Given the description of an element on the screen output the (x, y) to click on. 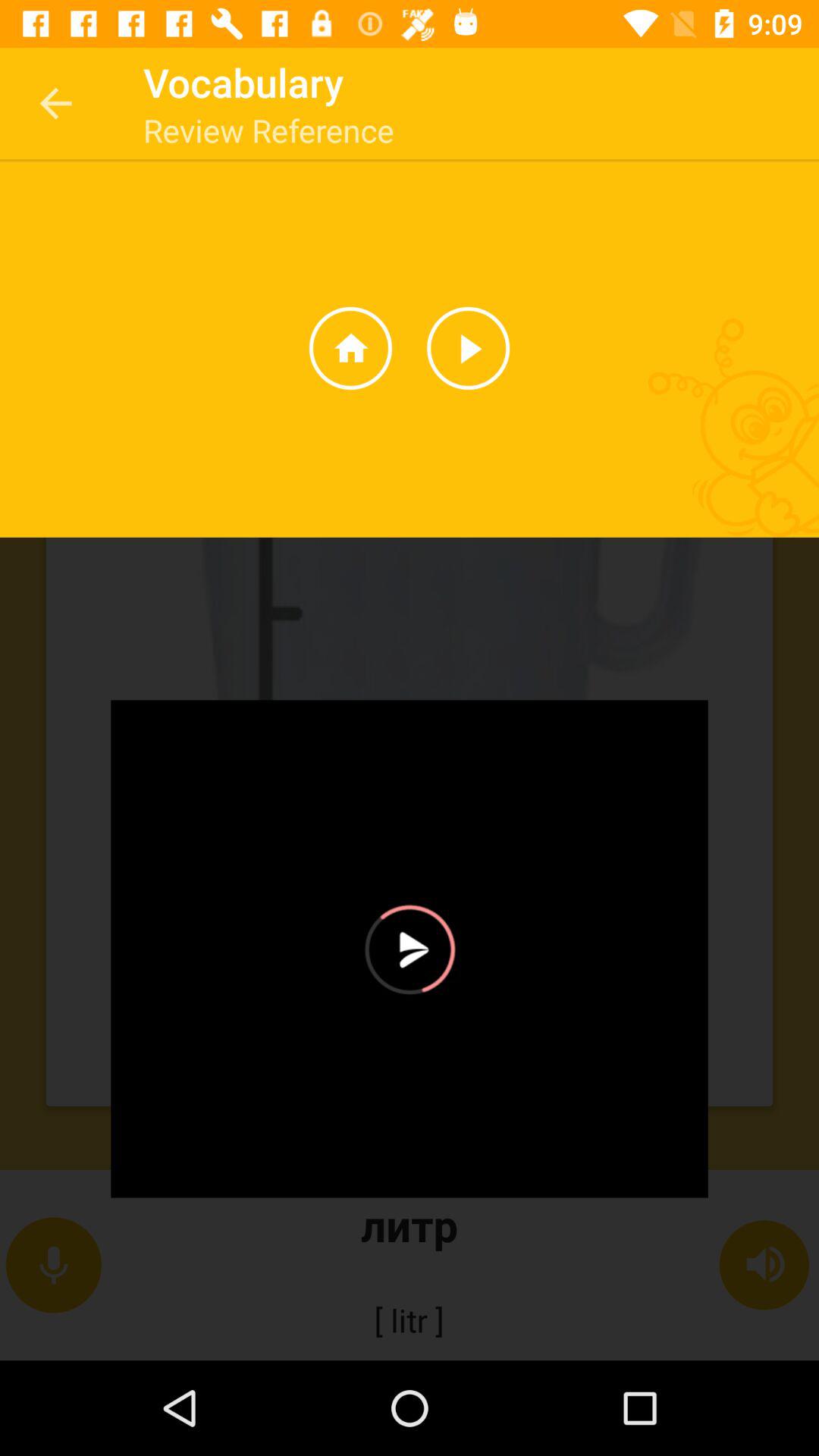
select the image below review reference which consists of three options (409, 664)
select the second icon which is under the text review references (468, 347)
select the speaker symbol which is on the right side of the screen (765, 1265)
